Given the description of an element on the screen output the (x, y) to click on. 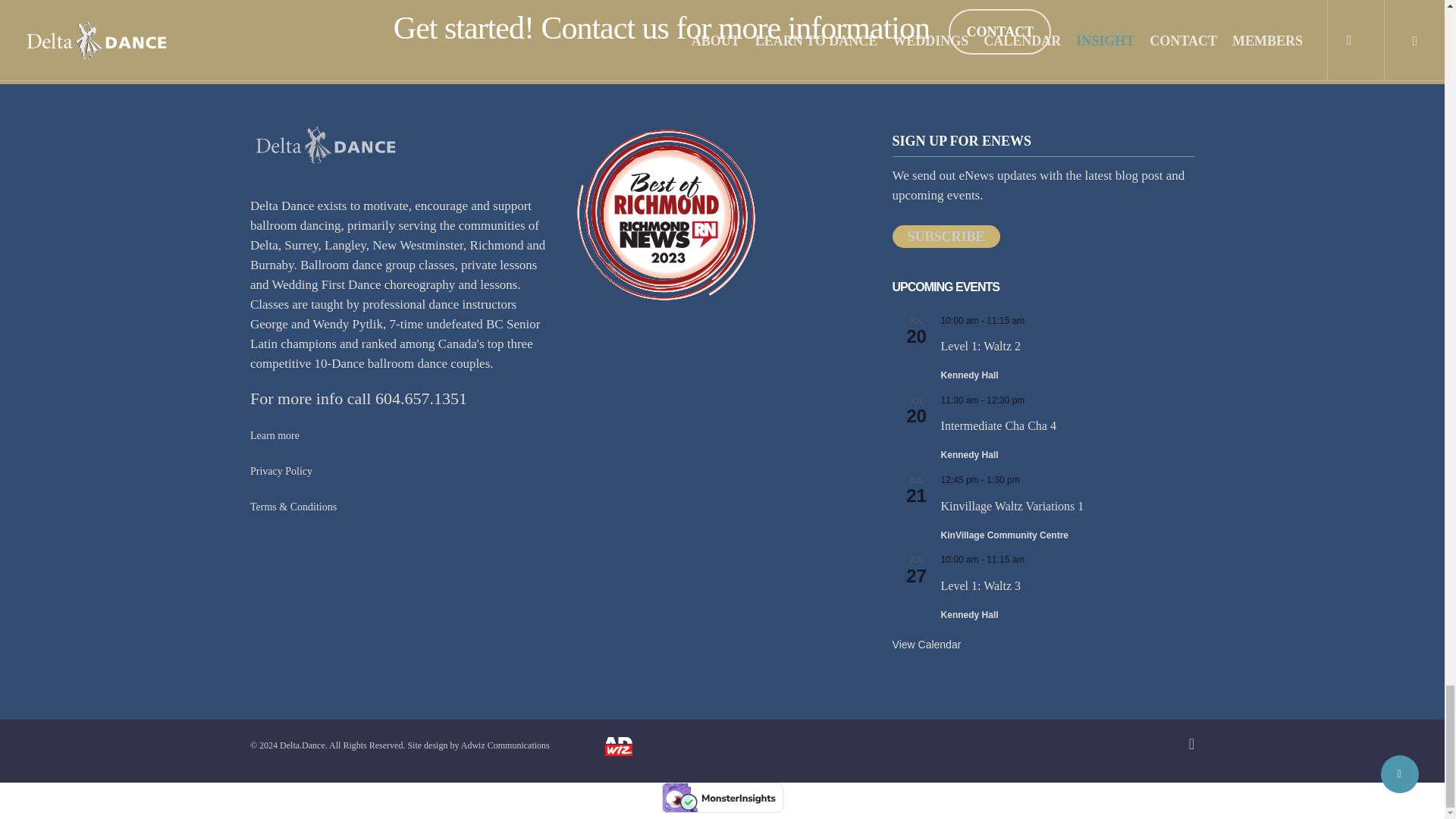
Kinvillage Waltz Variations 1 (1012, 506)
Intermediate Cha Cha 4 (998, 426)
Level 1: Waltz 2 (981, 345)
